Given the description of an element on the screen output the (x, y) to click on. 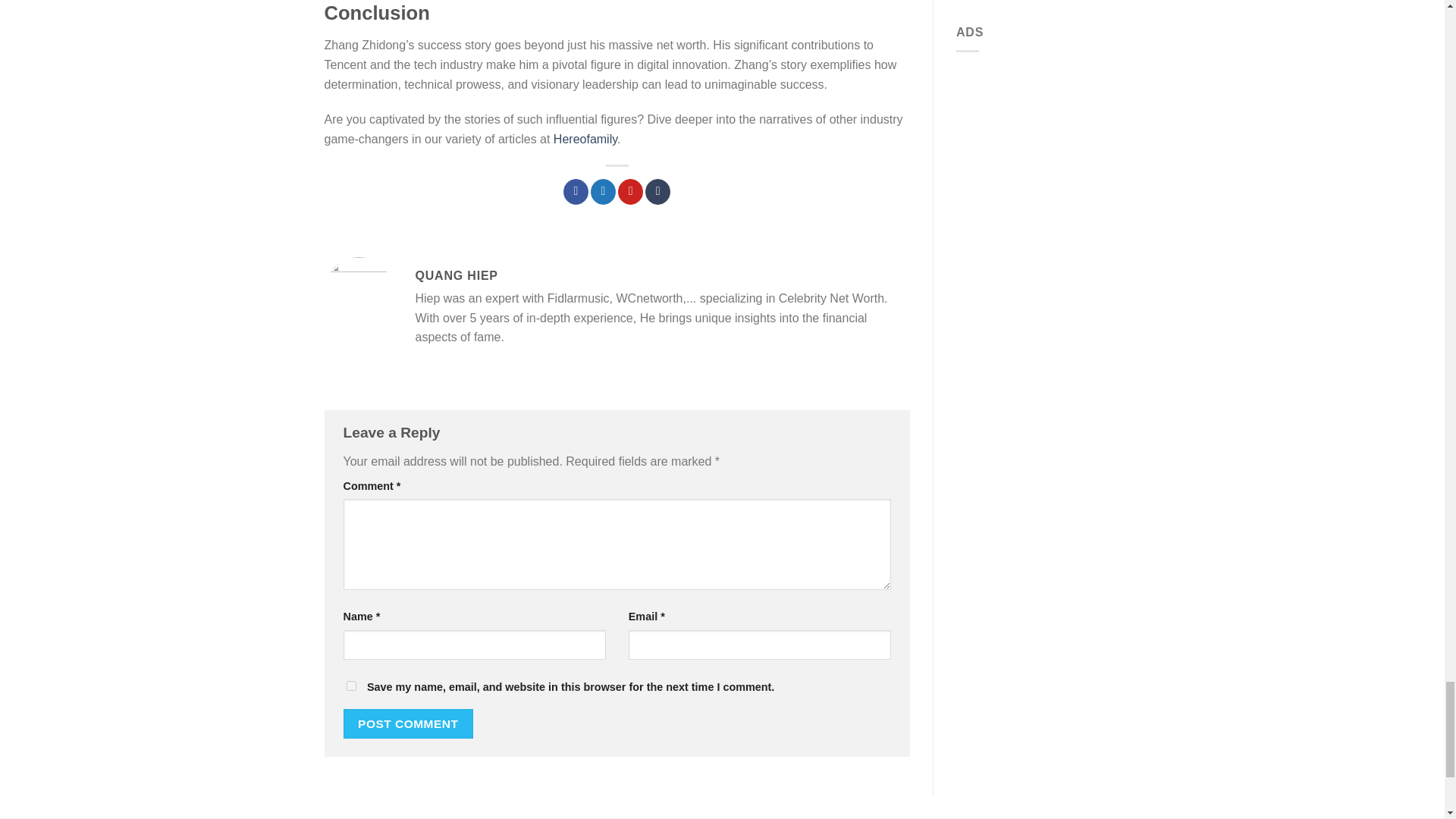
Hereofamily (585, 138)
Post Comment (407, 723)
Hereofamily (585, 138)
Share on Twitter (603, 191)
yes (350, 685)
Share on Tumblr (657, 191)
Pin on Pinterest (630, 191)
Share on Facebook (575, 191)
